Given the description of an element on the screen output the (x, y) to click on. 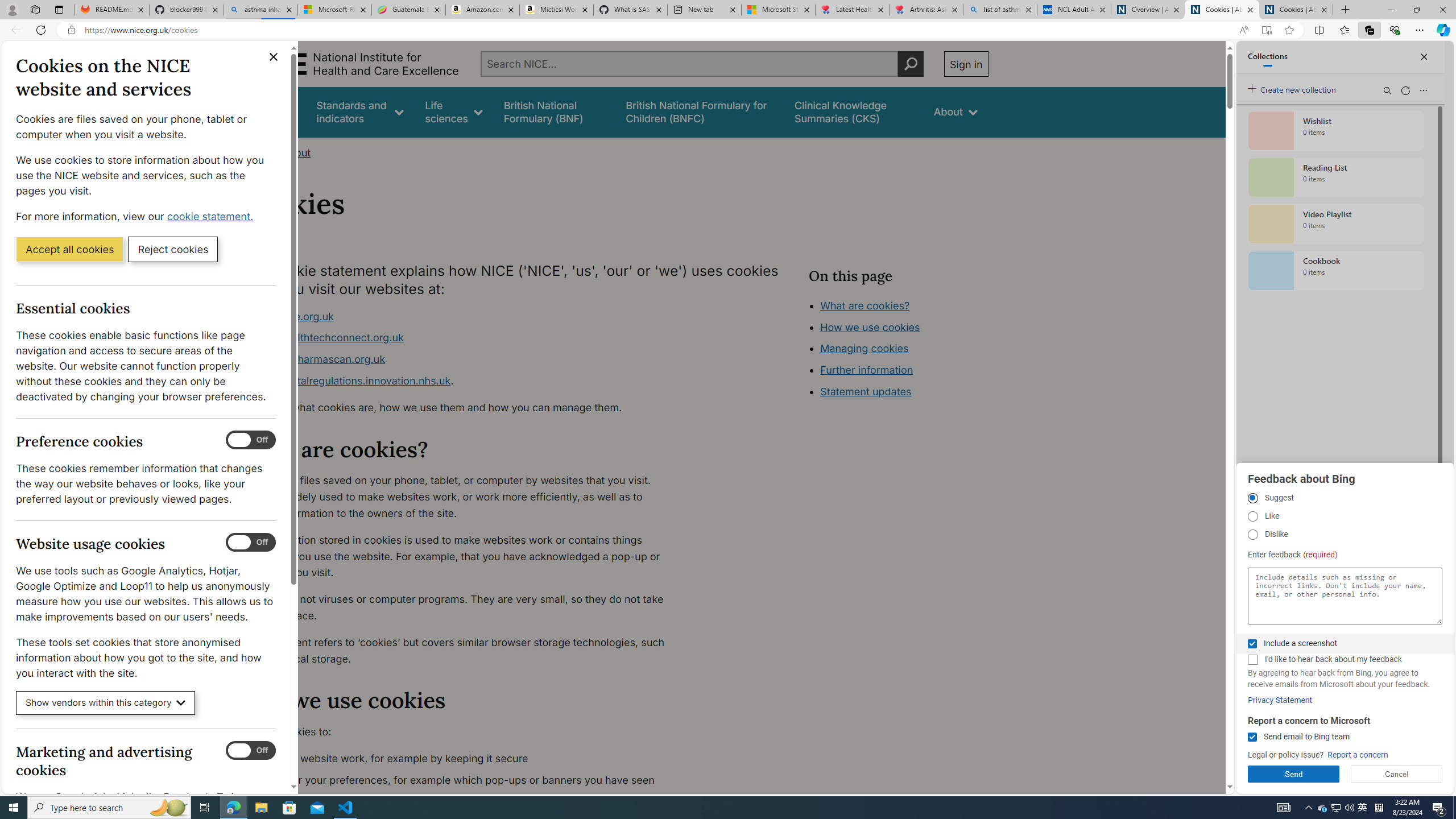
Like (1252, 516)
Cookies | About | NICE (1295, 9)
About (296, 152)
Include a screenshot (1251, 643)
What are cookies? (864, 305)
cookie statement. (Opens in a new window) (211, 215)
Send (1293, 773)
www.nice.org.uk (292, 315)
